Given the description of an element on the screen output the (x, y) to click on. 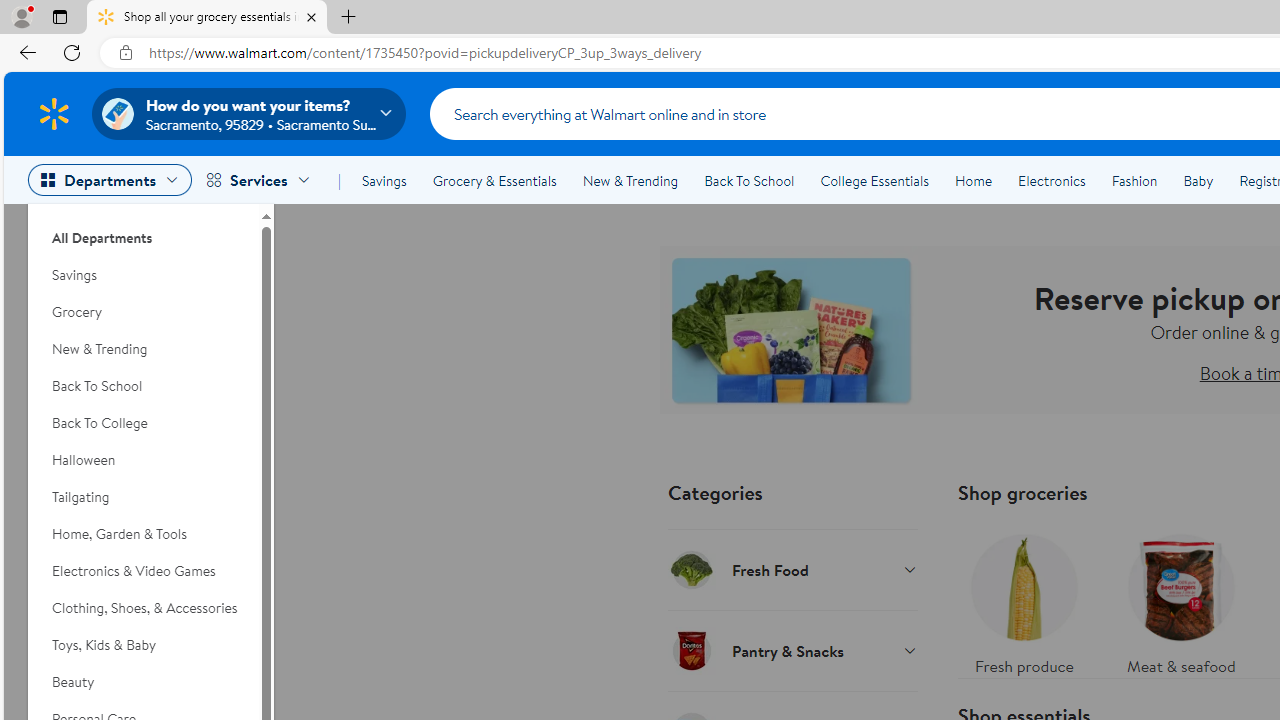
Back To School (143, 385)
New & Trending (630, 180)
Electronics & Video Games (143, 570)
